Given the description of an element on the screen output the (x, y) to click on. 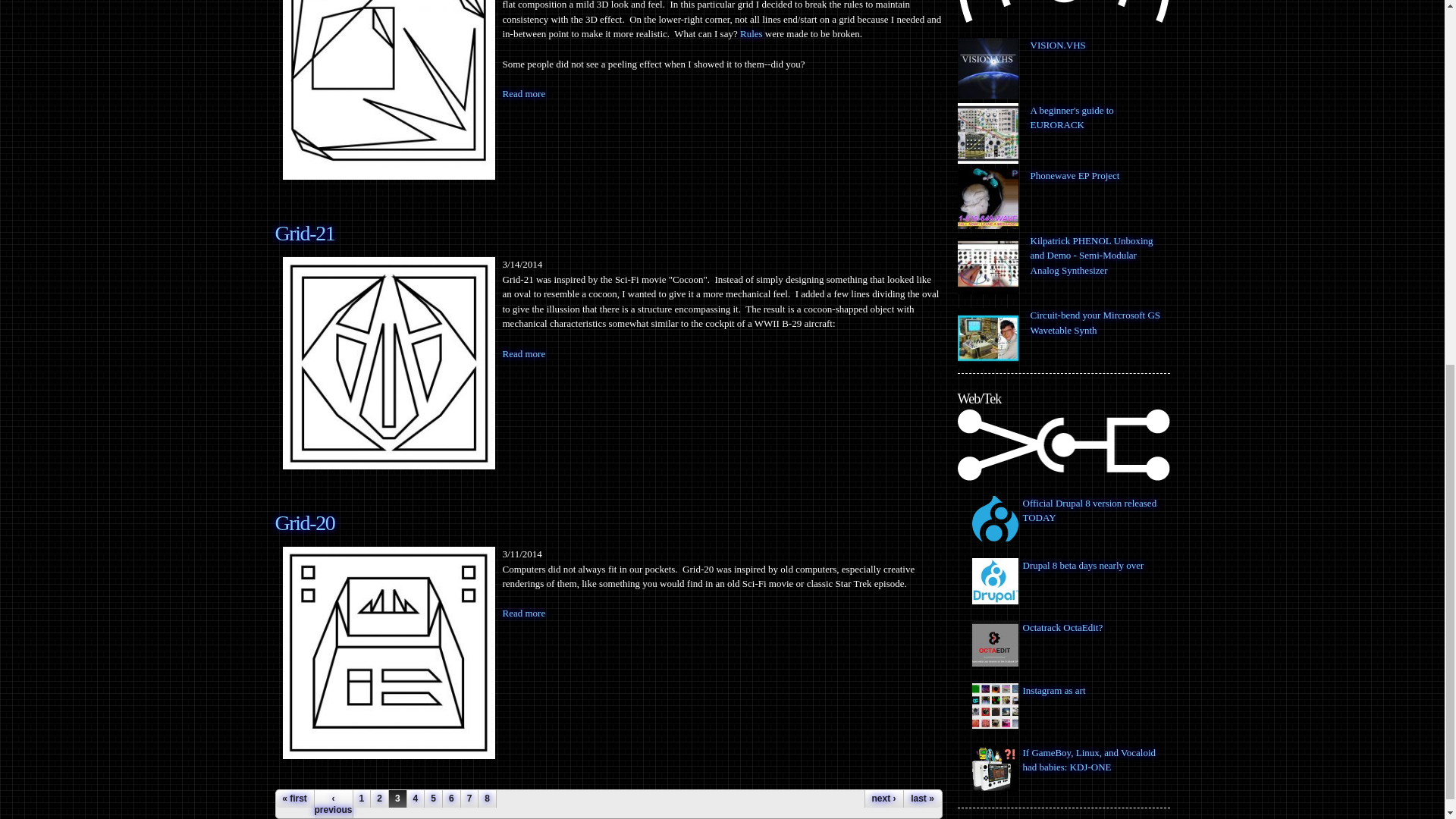
Go to page 6 (451, 798)
6 (451, 798)
5 (433, 798)
4 (416, 798)
Grid-22 (388, 89)
Go to page 8 (487, 798)
Go to page 1 (362, 798)
Read more (523, 613)
Grid-20 (388, 653)
Go to page 5 (433, 798)
8 (487, 798)
Go to page 4 (416, 798)
Read more (523, 353)
1 (362, 798)
7 (470, 798)
